Given the description of an element on the screen output the (x, y) to click on. 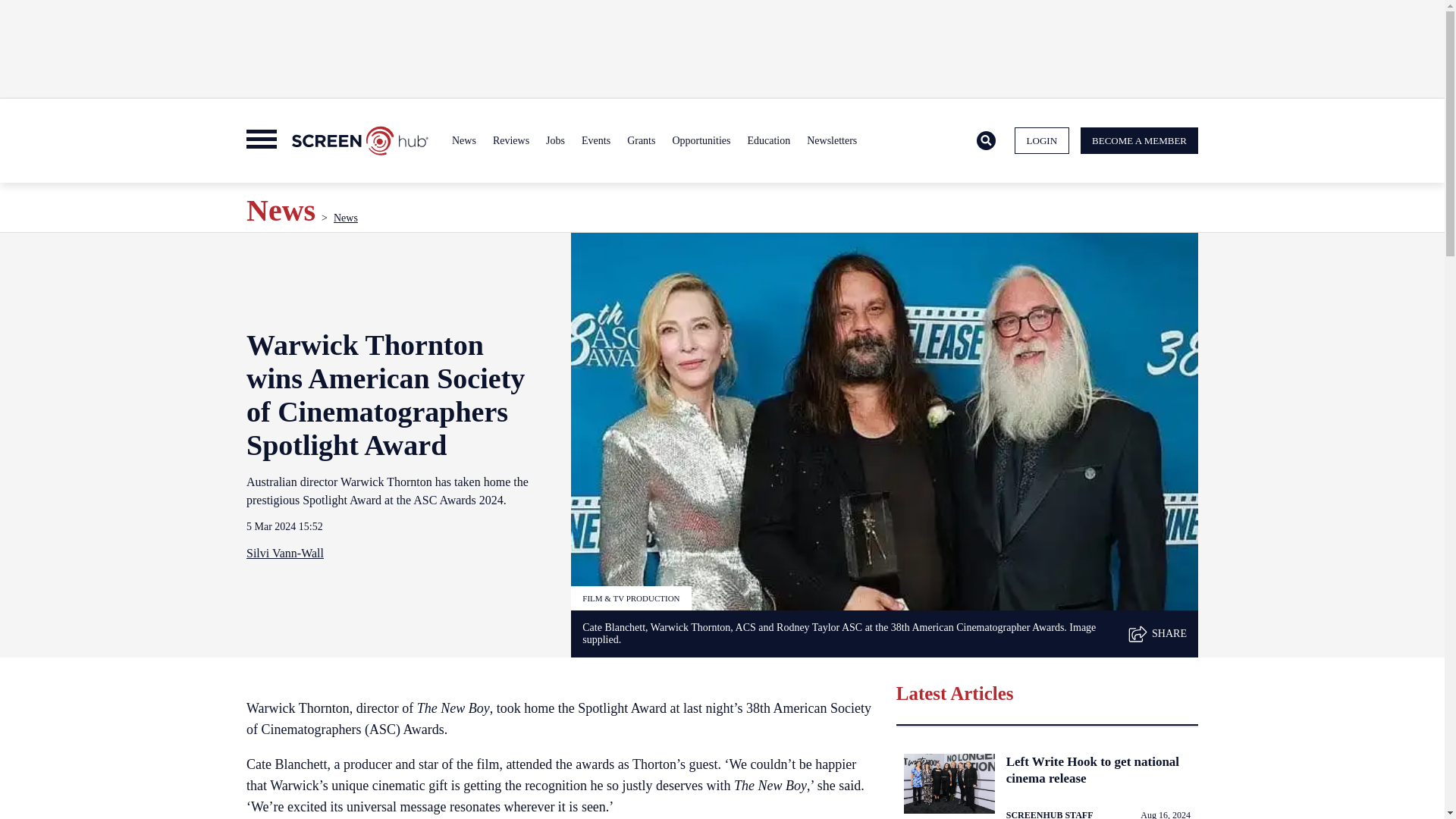
Jobs (555, 140)
Search Icon (985, 140)
Newsletters (832, 140)
LOGIN (1041, 140)
Reviews (510, 140)
News (464, 140)
Education (768, 140)
BECOME A MEMBER (1139, 140)
Opportunities (700, 140)
Events (595, 140)
